Given the description of an element on the screen output the (x, y) to click on. 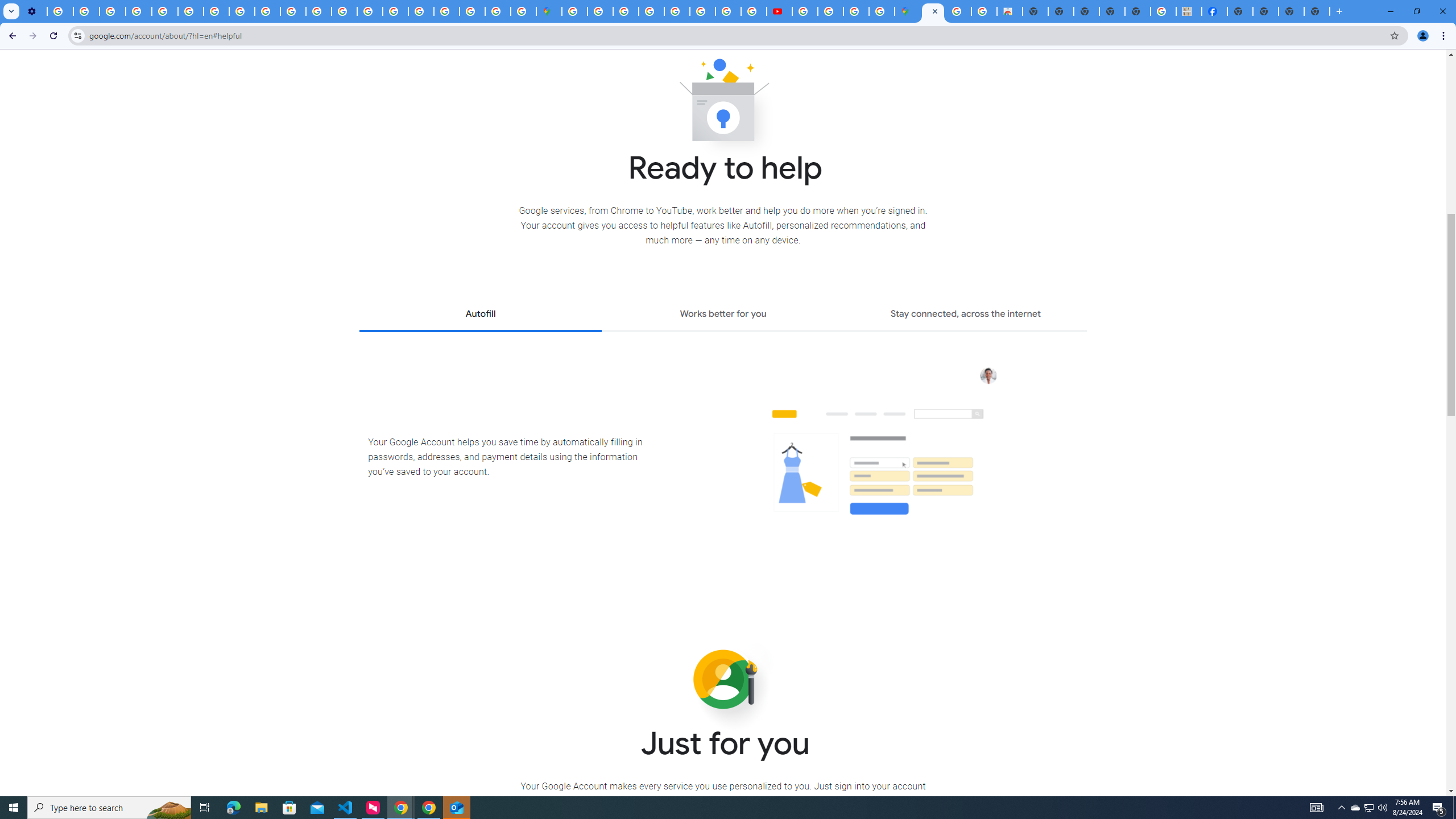
Privacy Help Center - Policies Help (165, 11)
Works better for you (722, 315)
Privacy Help Center - Policies Help (344, 11)
New Tab (1316, 11)
